Given the description of an element on the screen output the (x, y) to click on. 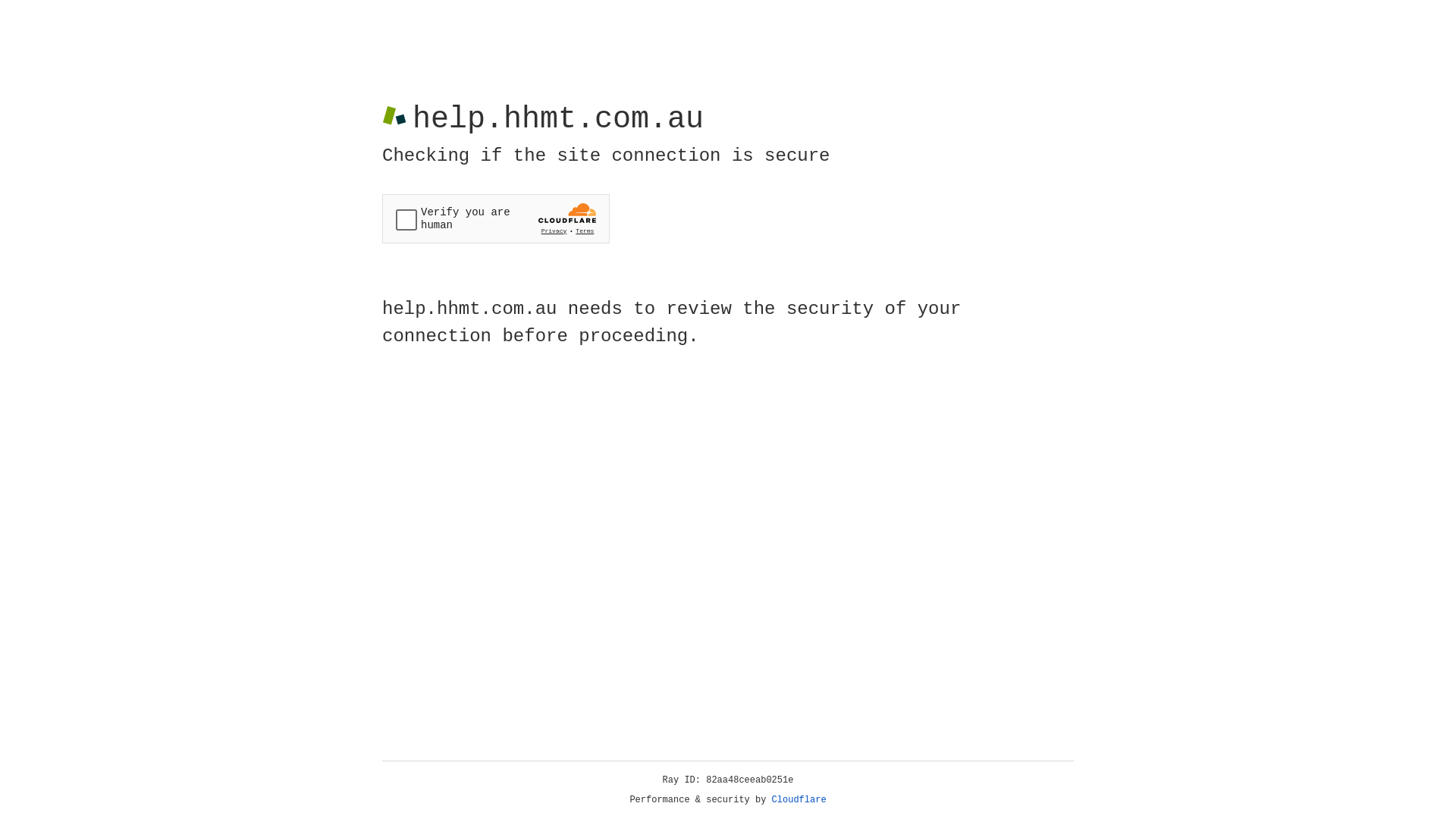
Cloudflare Element type: text (798, 799)
Widget containing a Cloudflare security challenge Element type: hover (495, 218)
